Given the description of an element on the screen output the (x, y) to click on. 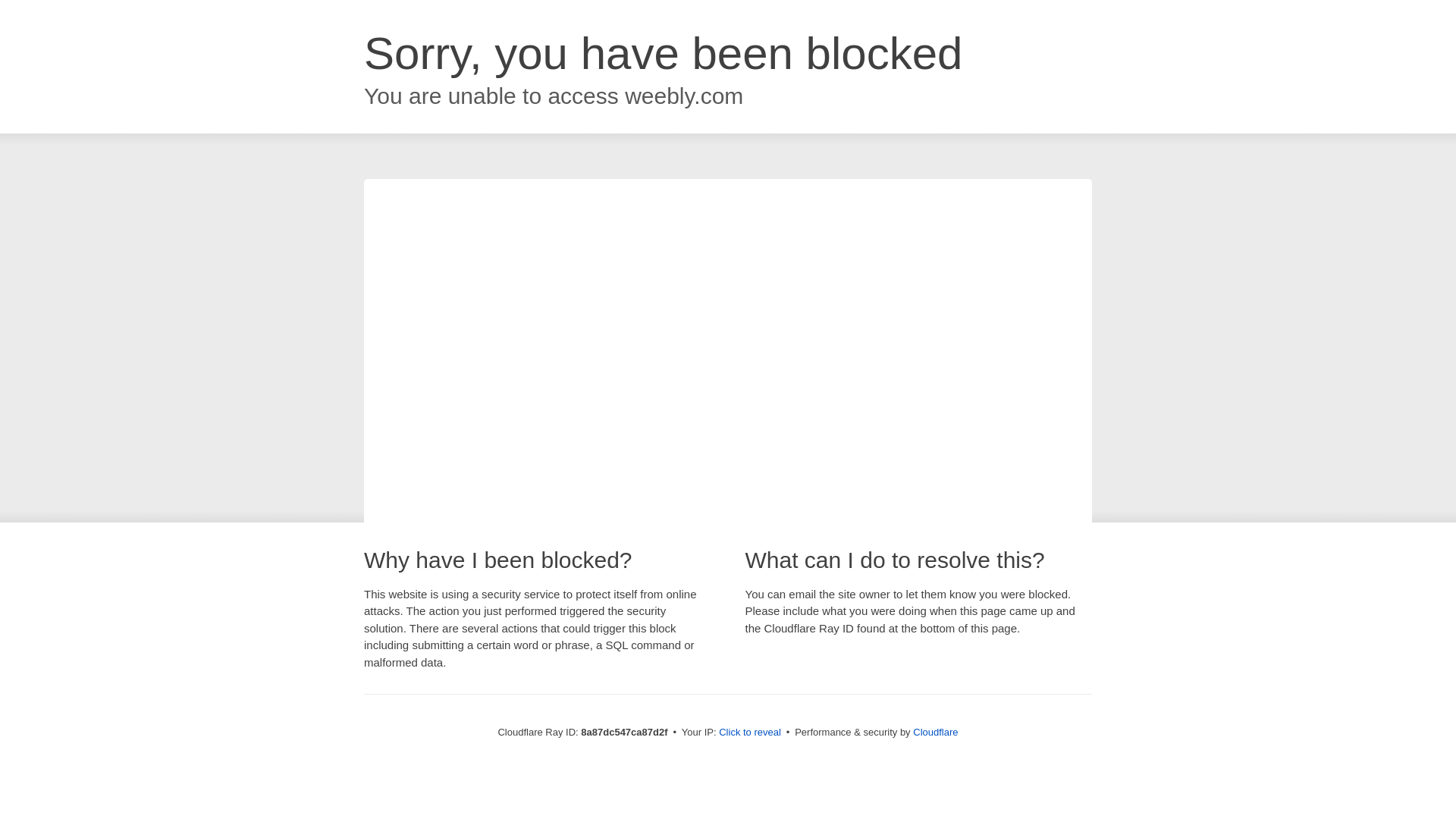
Click to reveal (749, 732)
Cloudflare (935, 731)
